Given the description of an element on the screen output the (x, y) to click on. 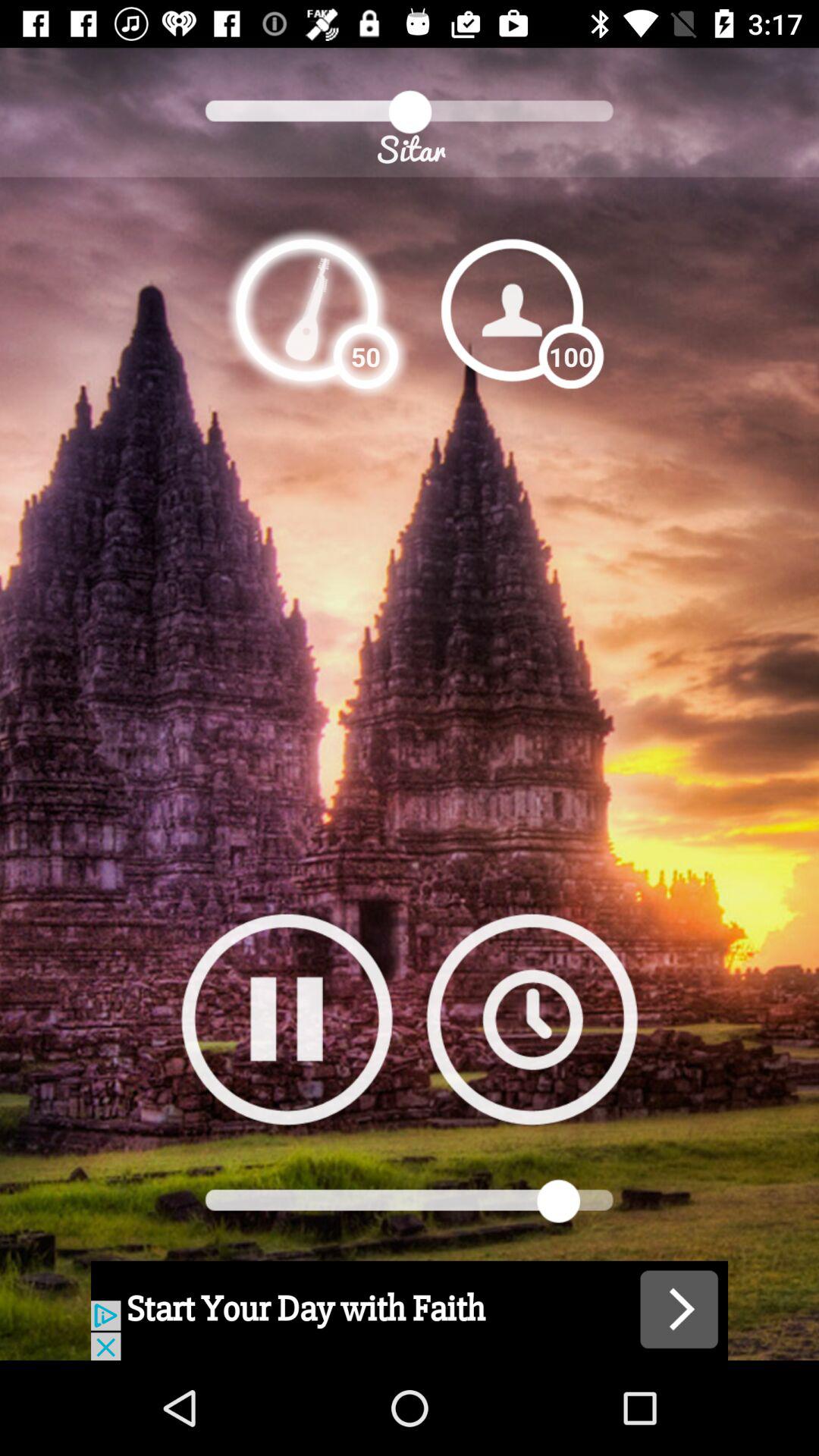
select the stop option (286, 1018)
